Given the description of an element on the screen output the (x, y) to click on. 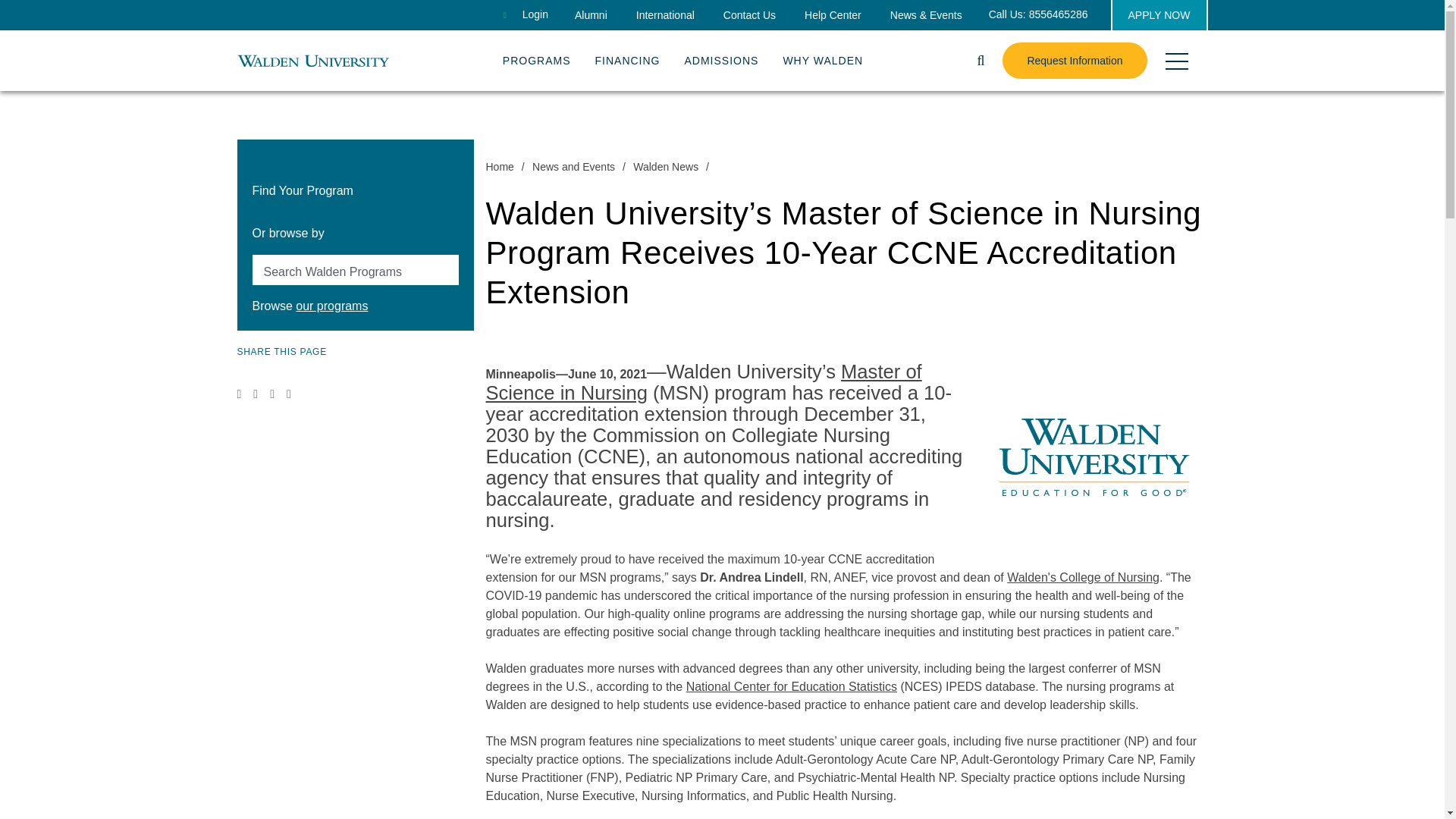
Home (311, 60)
Walden Alumni (590, 15)
Programs (536, 57)
